Given the description of an element on the screen output the (x, y) to click on. 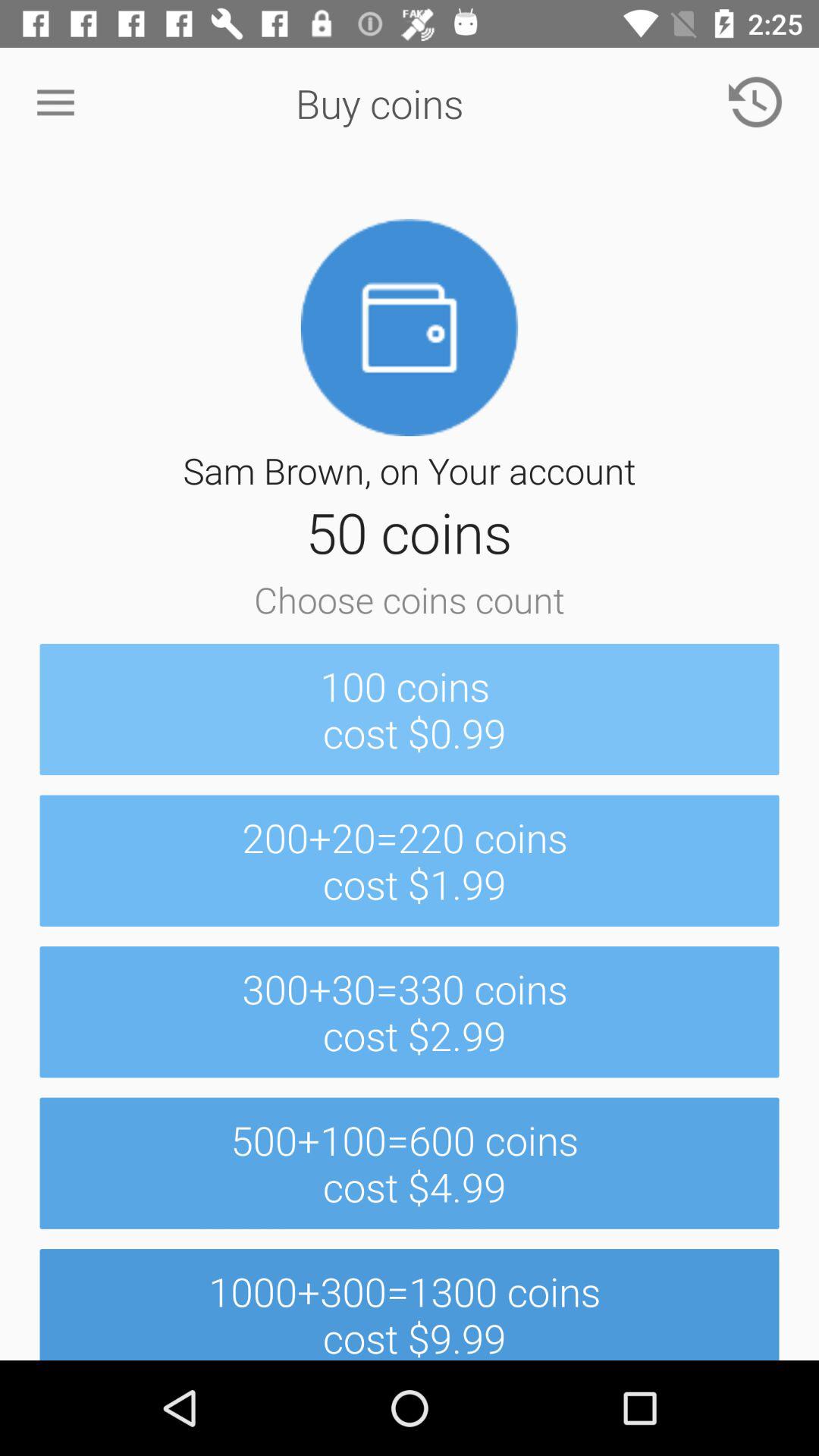
scroll to 200 20 220 icon (409, 860)
